Given the description of an element on the screen output the (x, y) to click on. 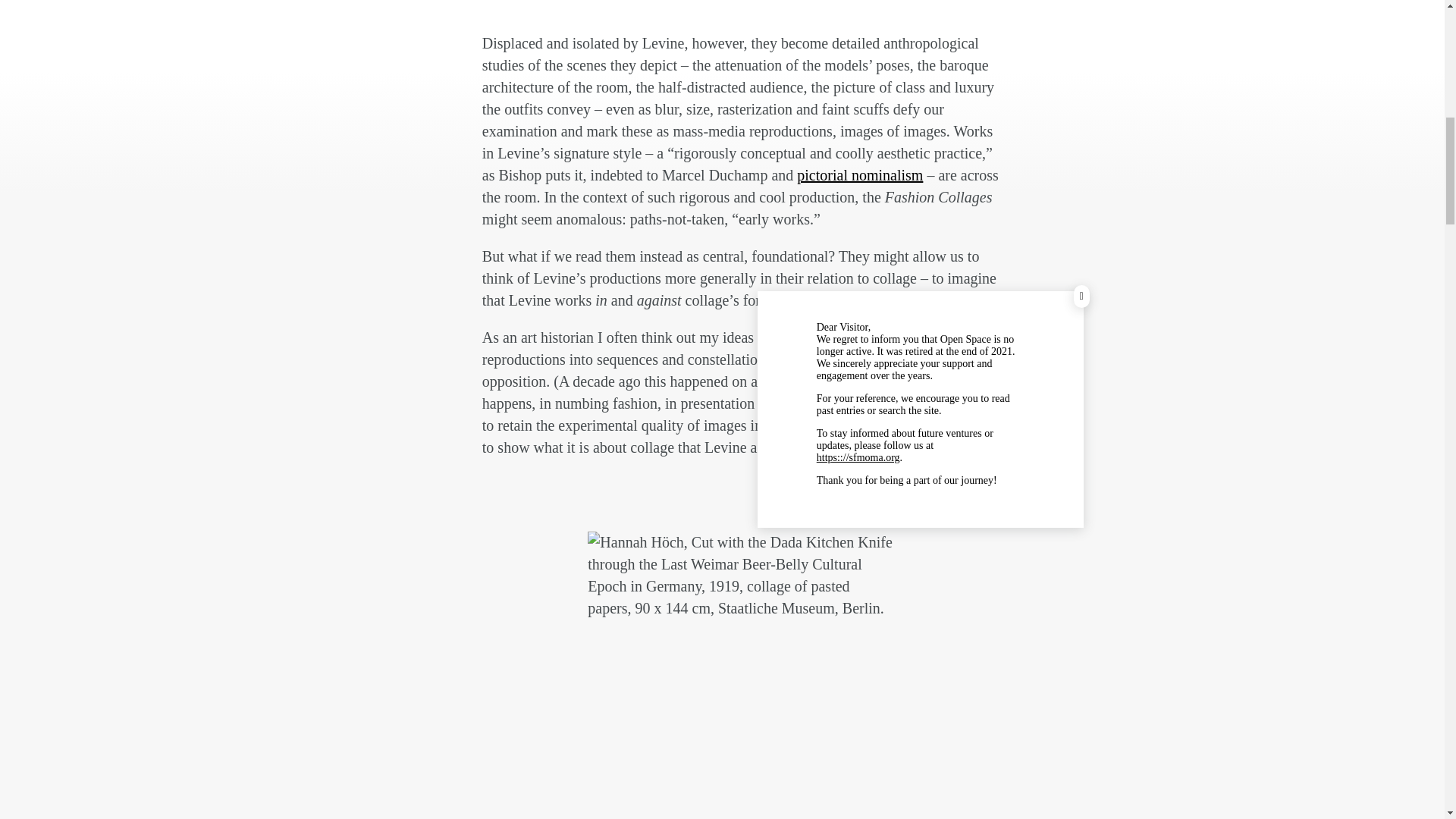
Slide Sorter (795, 381)
slide-table (881, 381)
pictorial nominalism (859, 175)
De Duve, "Pictorial Nominalism" (859, 175)
Light tables (881, 381)
slide-sorter (795, 381)
